Given the description of an element on the screen output the (x, y) to click on. 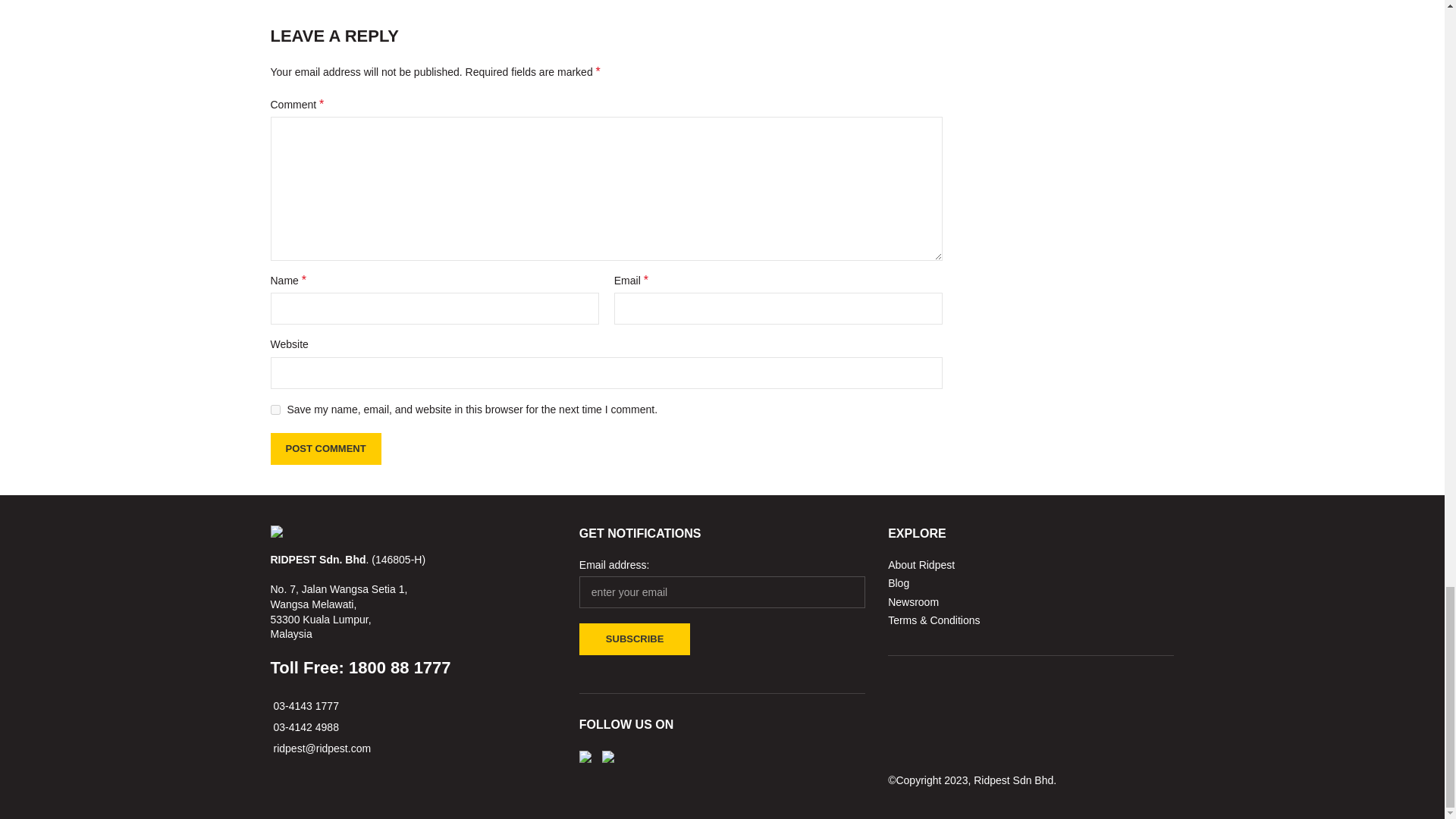
yes (274, 409)
Subscribe (634, 639)
Post Comment (324, 449)
